Given the description of an element on the screen output the (x, y) to click on. 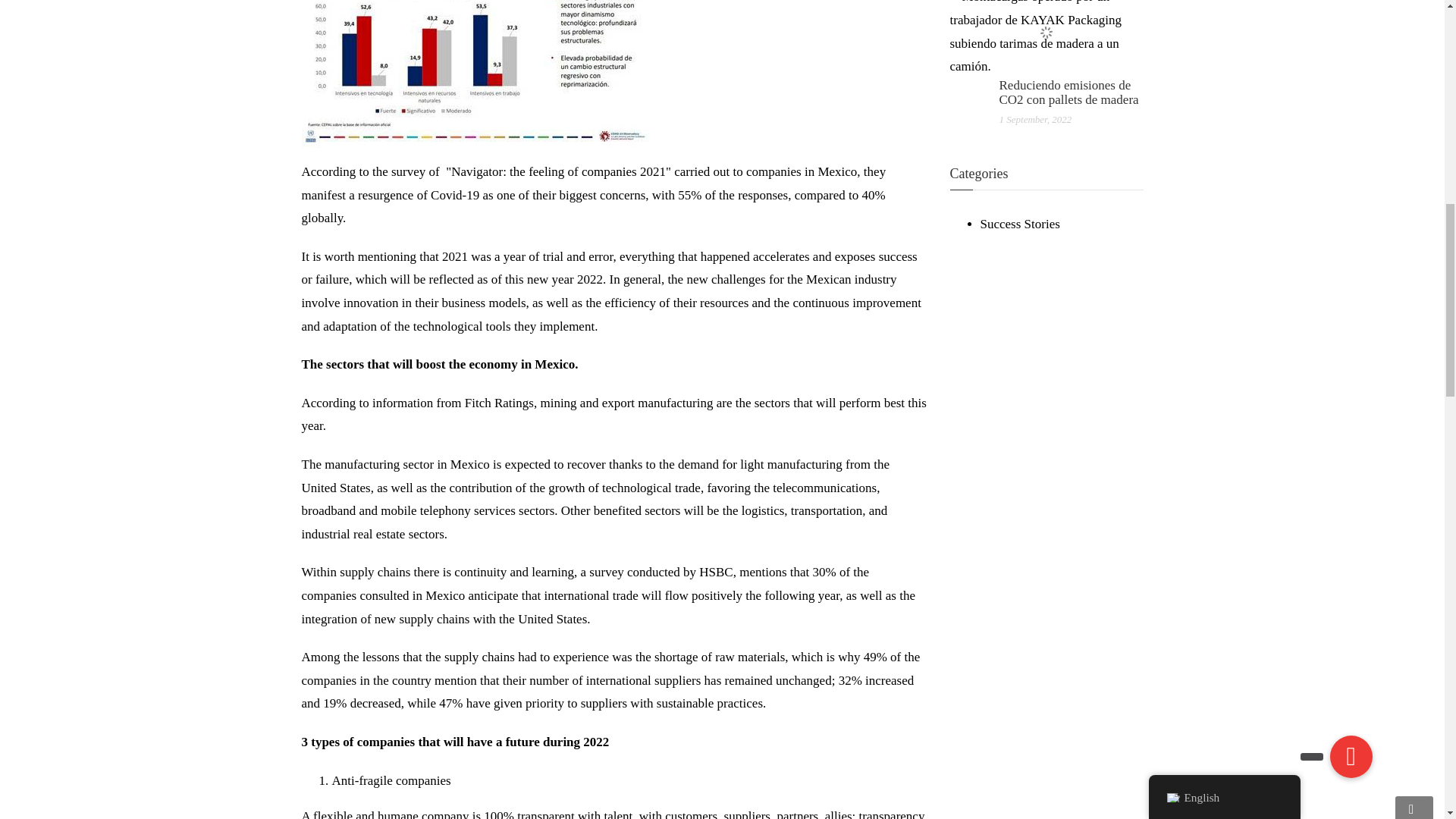
 "Navigator: the feeling of companies 2021" (558, 171)
Fitch Ratings (499, 402)
a survey conducted by HSBC, (659, 572)
